Given the description of an element on the screen output the (x, y) to click on. 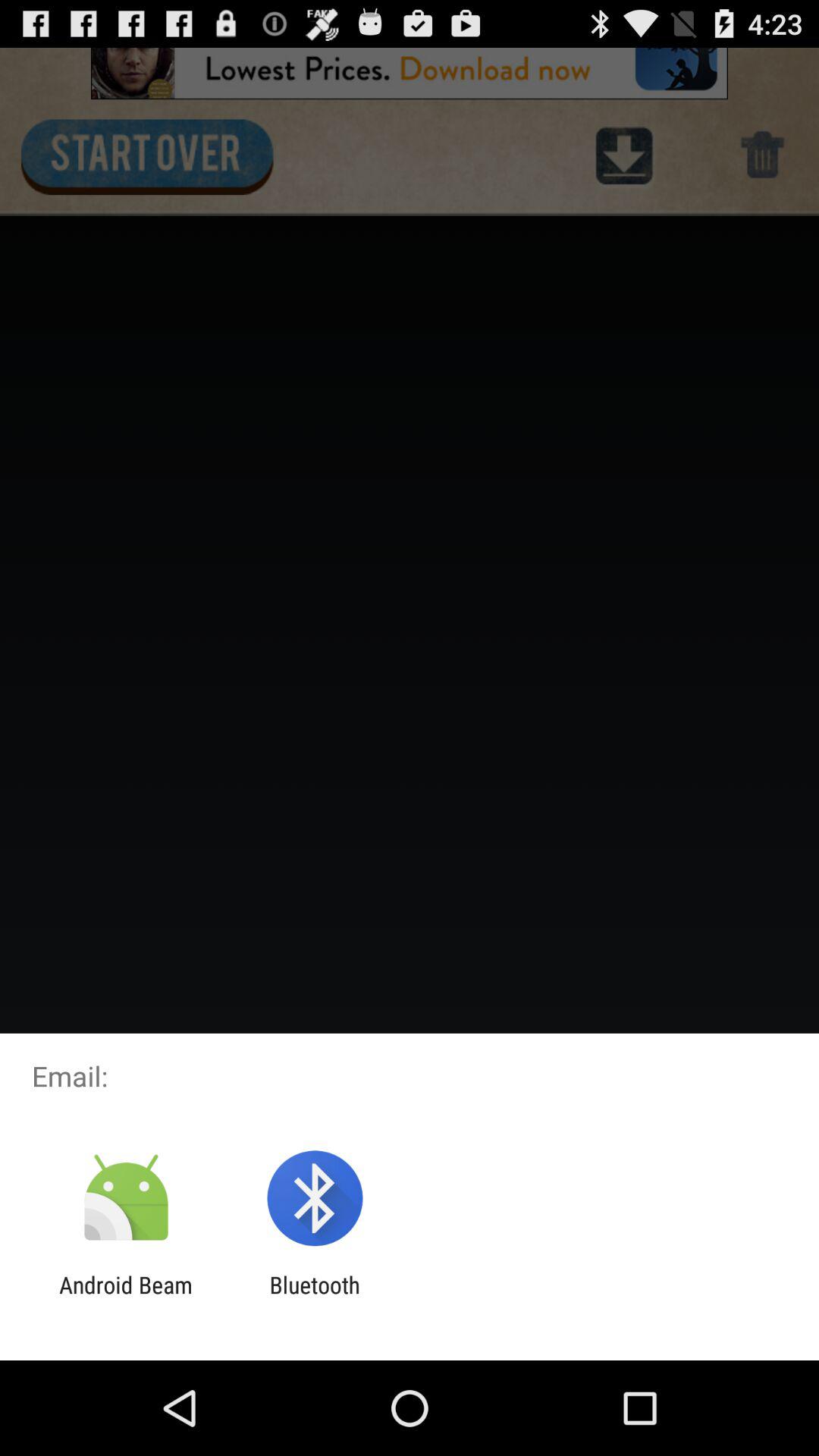
choose item next to the android beam icon (314, 1298)
